Given the description of an element on the screen output the (x, y) to click on. 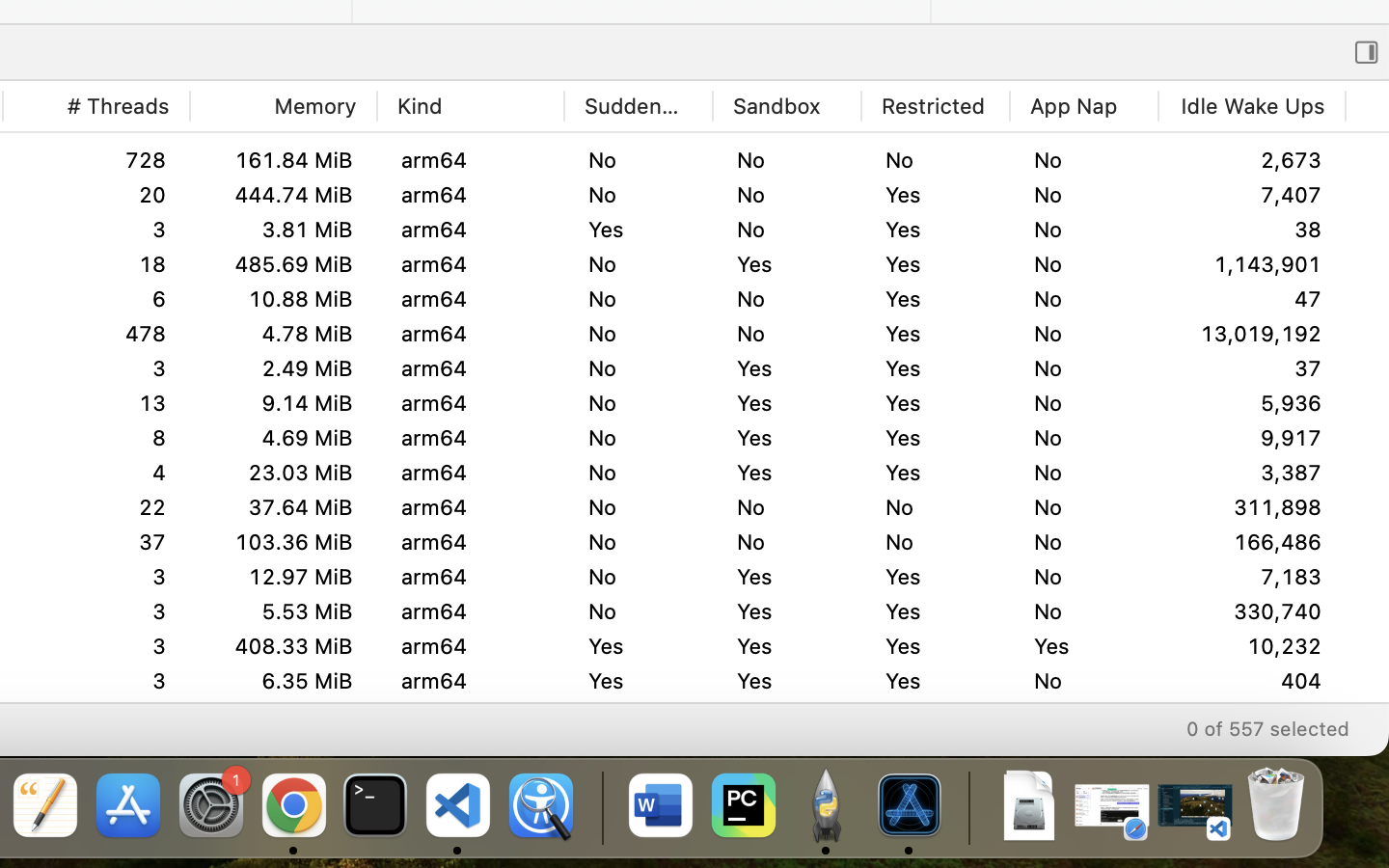
47.17 MiB Element type: AXStaticText (283, 749)
5,932 Element type: AXStaticText (1251, 402)
30 Element type: AXStaticText (1251, 367)
